Given the description of an element on the screen output the (x, y) to click on. 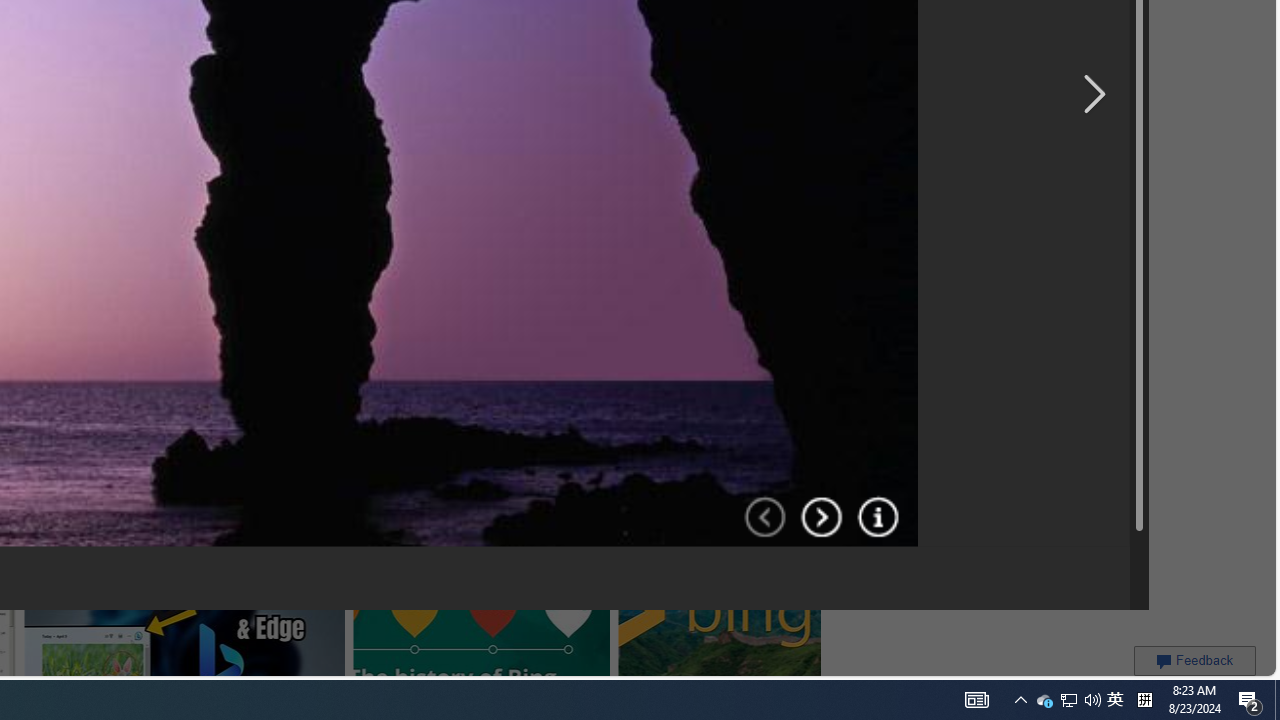
Microsoft Bing Search | Enfew (763, 24)
Remove the 'News & Interests' bar from Bing | TechLife (233, 16)
Feedback (1194, 660)
Bing (2009) (RARE/FAKE) - YouTube (345, 253)
microsoft bing (463, 16)
Bing (2009) (RARE/FAKE) - YouTube (377, 253)
